Given the description of an element on the screen output the (x, y) to click on. 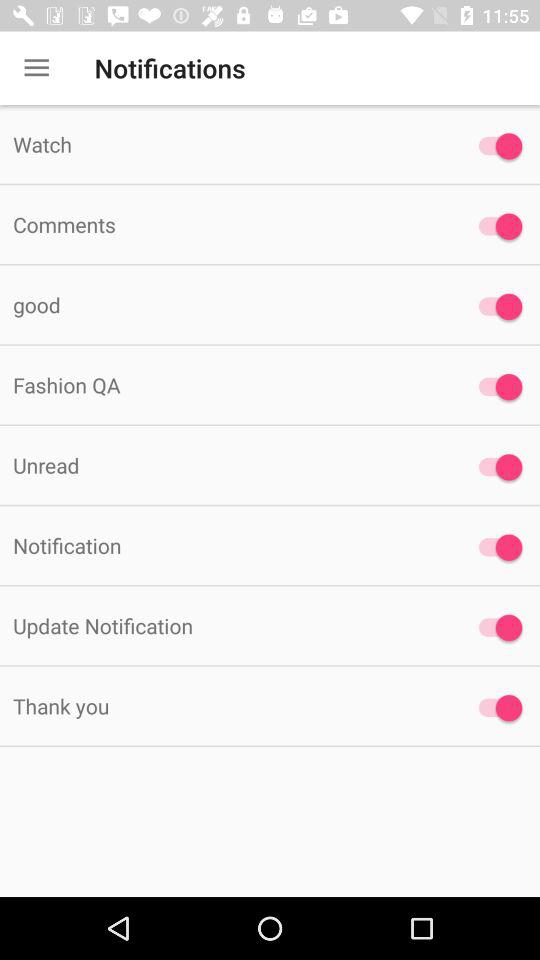
select watch item (225, 144)
